Given the description of an element on the screen output the (x, y) to click on. 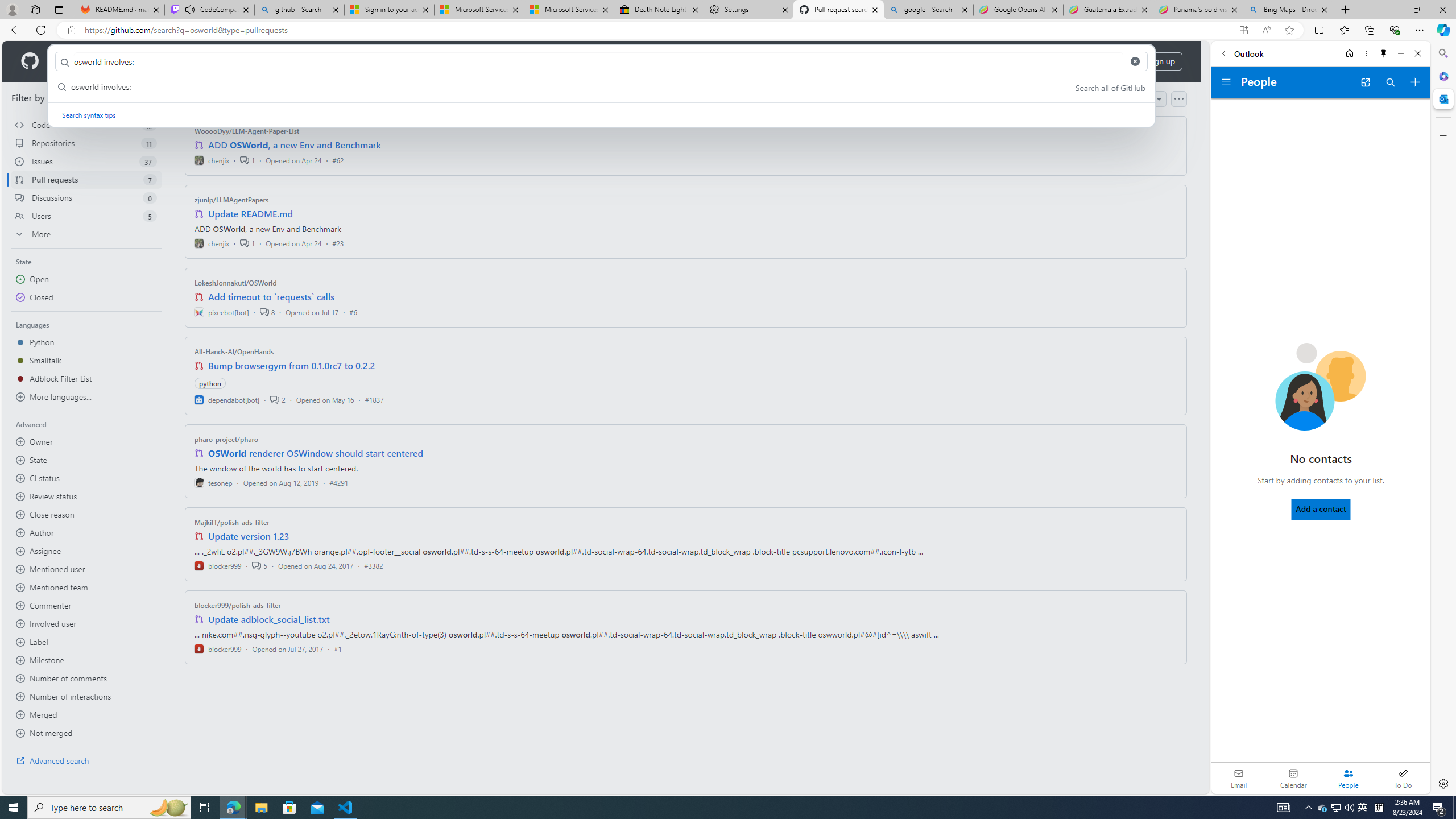
Update README.md (250, 213)
Sign in (1115, 61)
Unpin side pane (1383, 53)
WooooDyy/LLM-Agent-Paper-List (247, 130)
Homepage (29, 61)
